Given the description of an element on the screen output the (x, y) to click on. 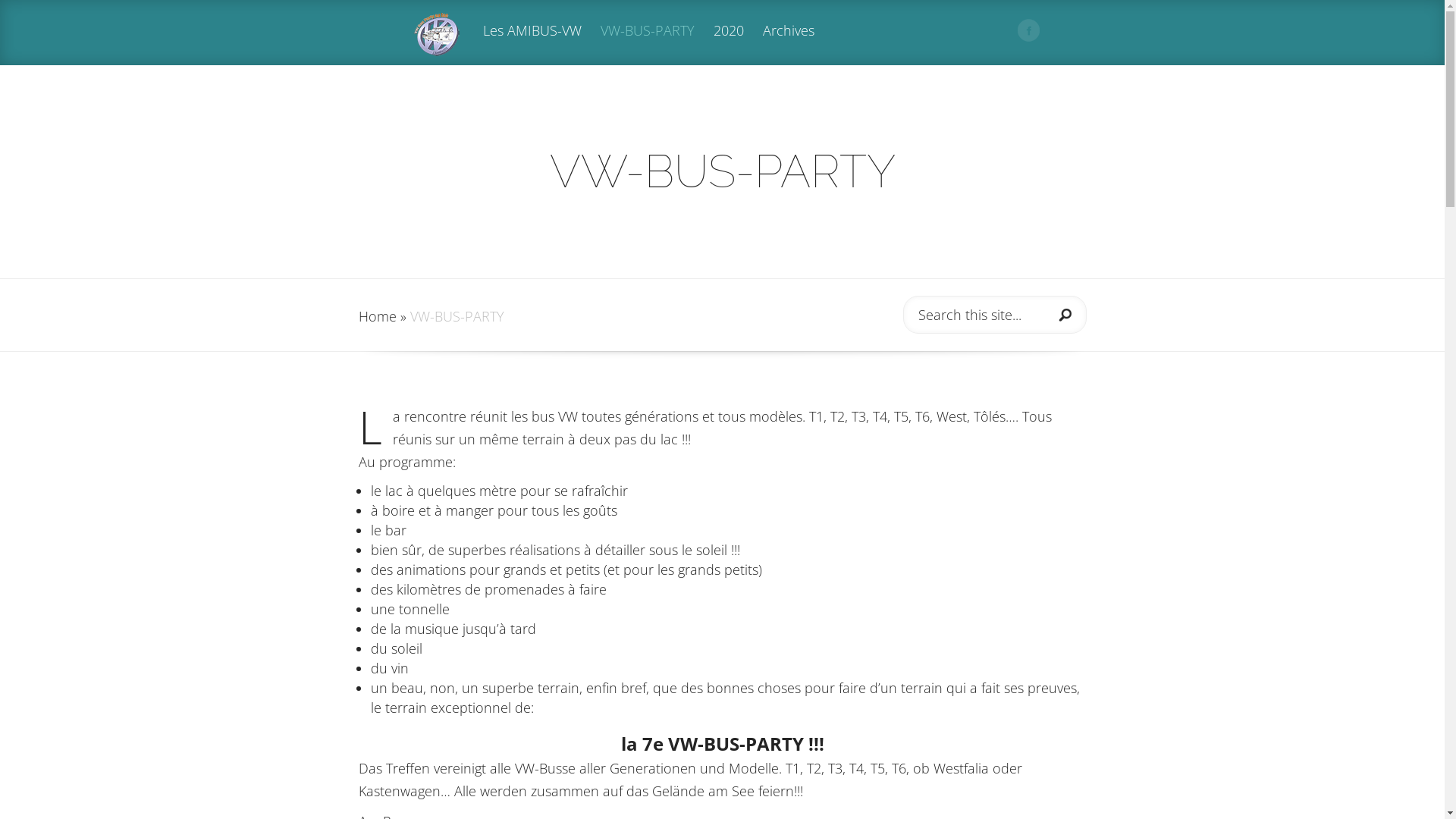
Les AMIBUS-VW Element type: text (531, 44)
Home Element type: text (376, 316)
2020 Element type: text (727, 44)
Archives Element type: text (788, 44)
VW-BUS-PARTY Element type: text (647, 44)
